Given the description of an element on the screen output the (x, y) to click on. 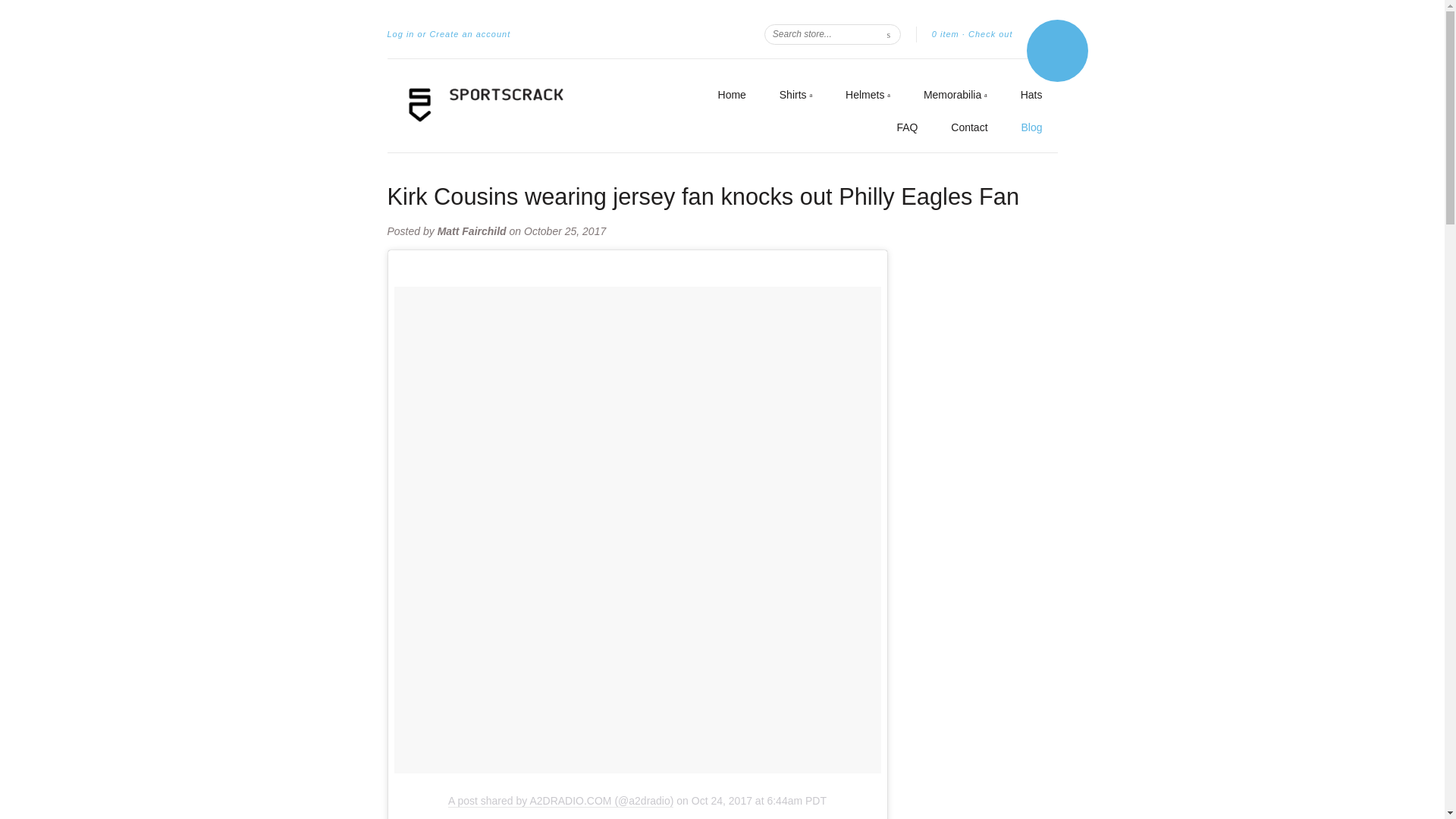
Hats (1031, 94)
Blog (1031, 127)
Search (888, 33)
Kirk Cousins wearing jersey fan knocks out Philly Eagles Fan (703, 196)
Home (731, 94)
FAQ (906, 127)
Log in (400, 34)
Contact (968, 127)
Helmets (867, 95)
Memorabilia (955, 95)
0 item (945, 34)
Create an account (470, 34)
Check out (990, 34)
Shirts (795, 95)
